Given the description of an element on the screen output the (x, y) to click on. 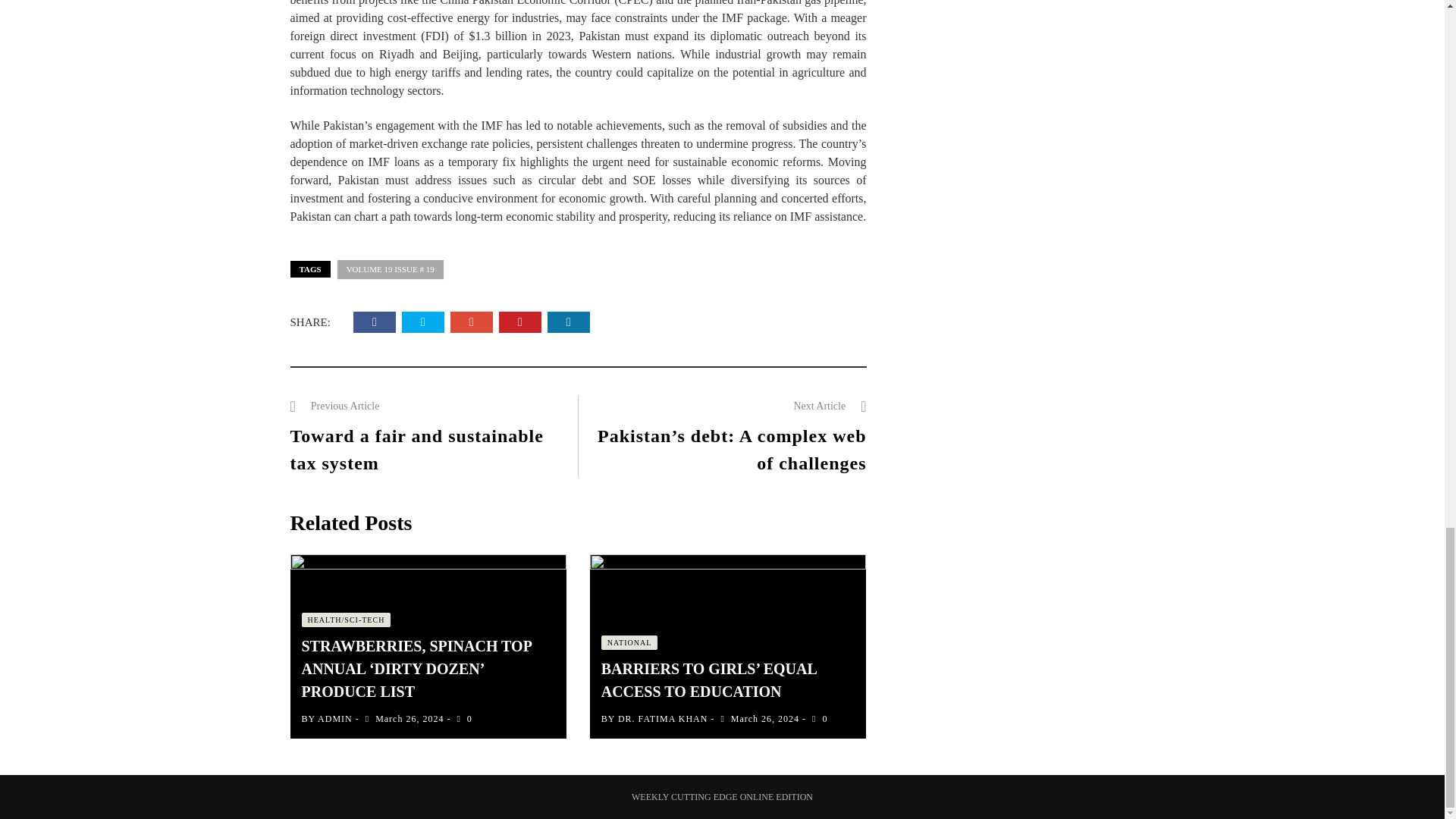
ADMIN (334, 718)
Posts by admin (334, 718)
Posts by Dr. Fatima Khan (662, 718)
NATIONAL (629, 642)
Toward a fair and sustainable tax system (416, 449)
